Given the description of an element on the screen output the (x, y) to click on. 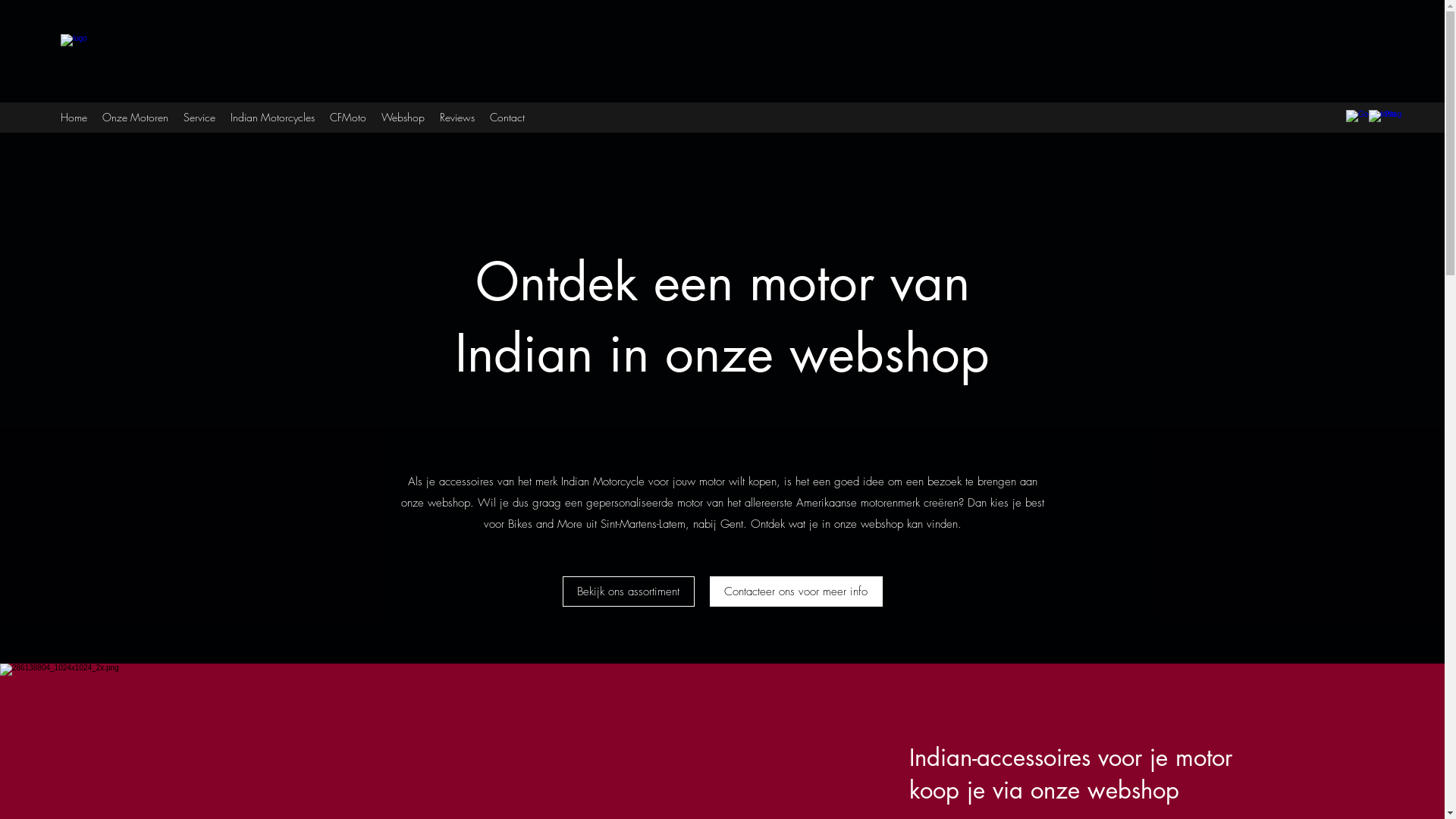
Webshop Element type: text (402, 117)
Reviews Element type: text (457, 117)
Onze Motoren Element type: text (134, 117)
Indian Motorcycles Element type: text (272, 117)
Home Element type: text (73, 117)
Contacteer ons voor meer info Element type: text (795, 591)
Contact Element type: text (507, 117)
Bekijk ons assortiment Element type: text (628, 591)
Service Element type: text (198, 117)
CFMoto Element type: text (347, 117)
